Given the description of an element on the screen output the (x, y) to click on. 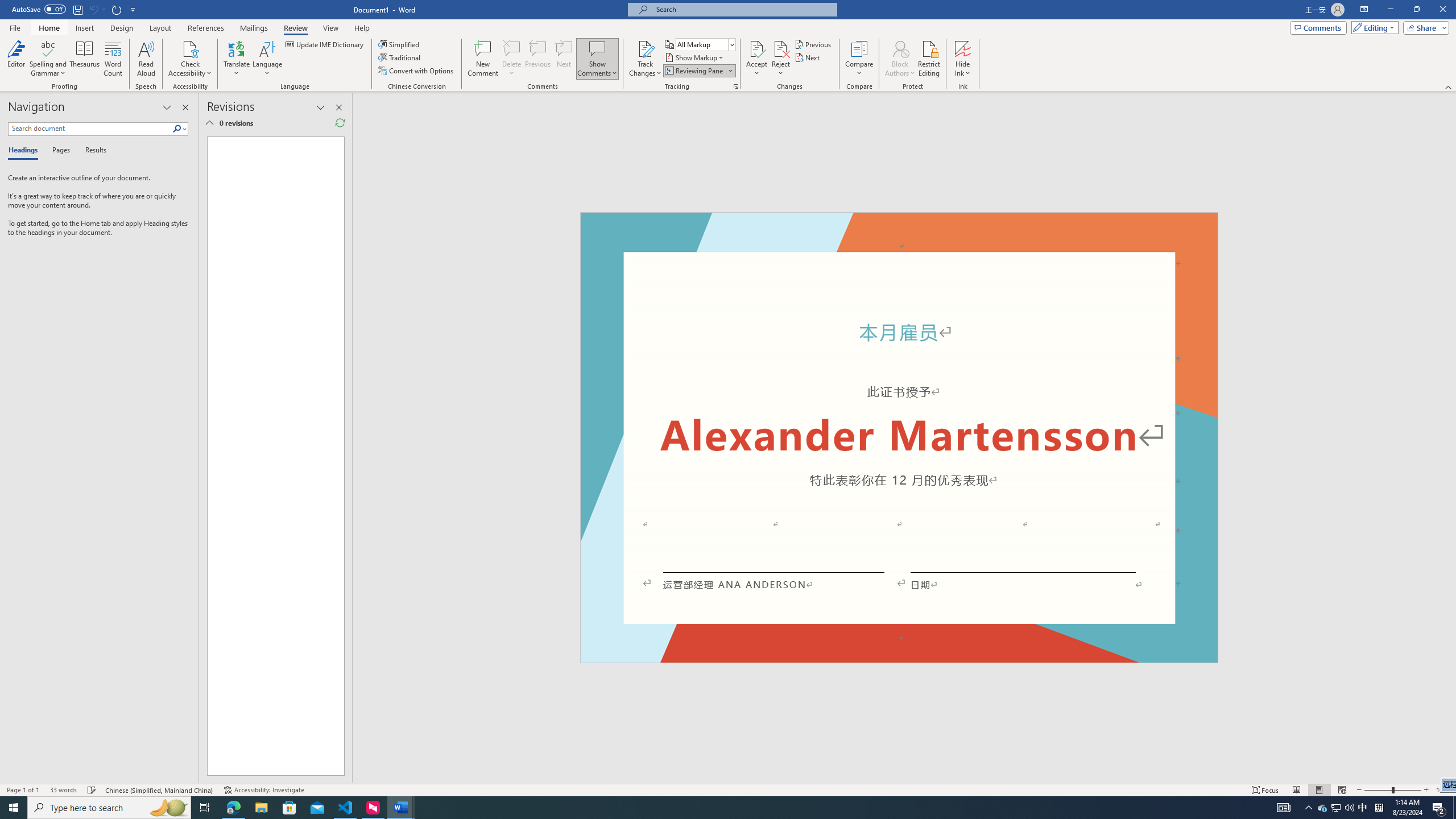
Track Changes (644, 48)
Check Accessibility (189, 58)
Previous (813, 44)
Spelling and Grammar Check Checking (91, 790)
Change Tracking Options... (735, 85)
Language (267, 58)
Delete (511, 58)
Next (808, 56)
Can't Undo (96, 9)
Read Aloud (145, 58)
Block Authors (900, 58)
